Given the description of an element on the screen output the (x, y) to click on. 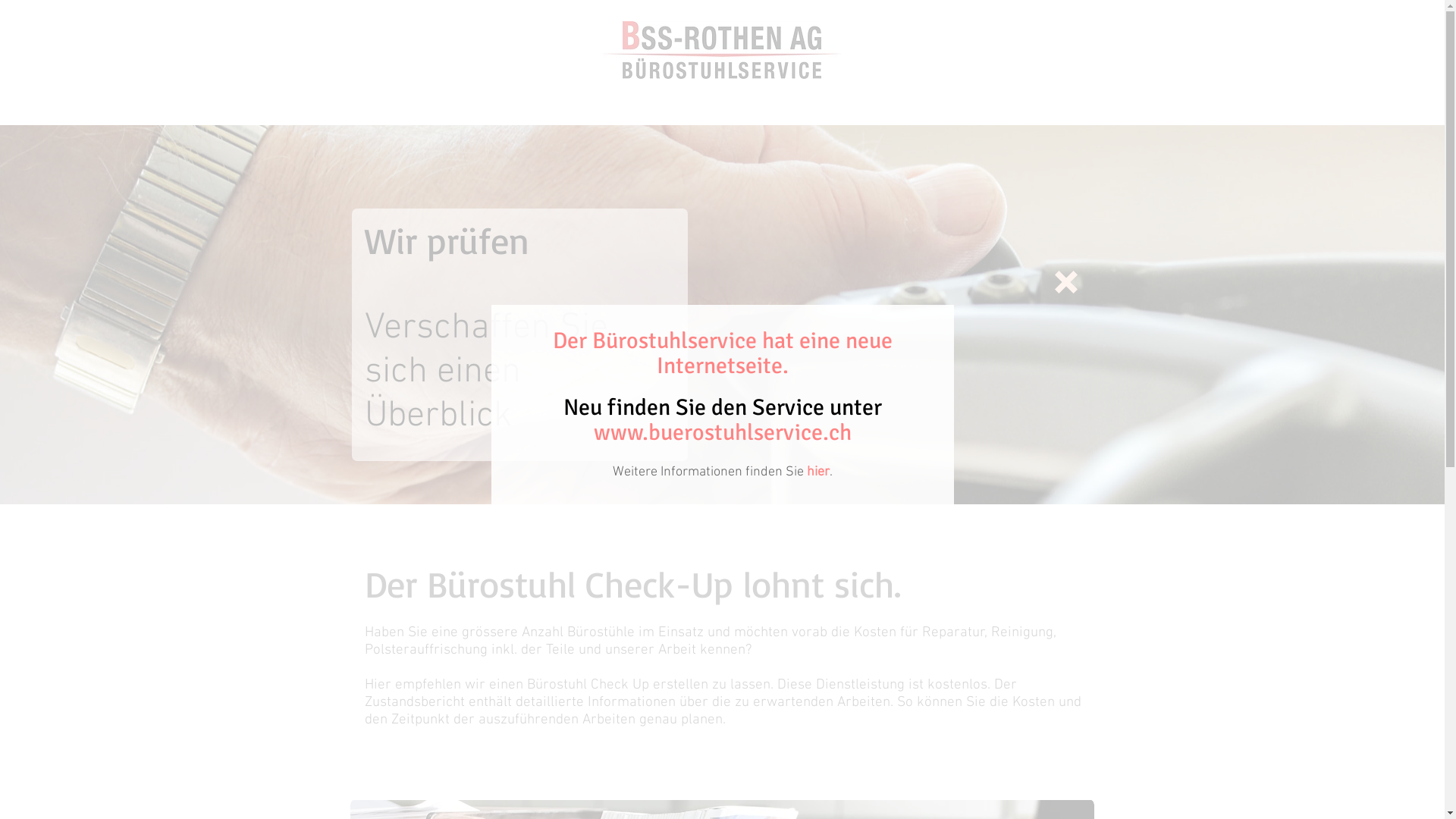
www.buerostuhlservice.ch Element type: text (721, 432)
hier Element type: text (817, 472)
